Given the description of an element on the screen output the (x, y) to click on. 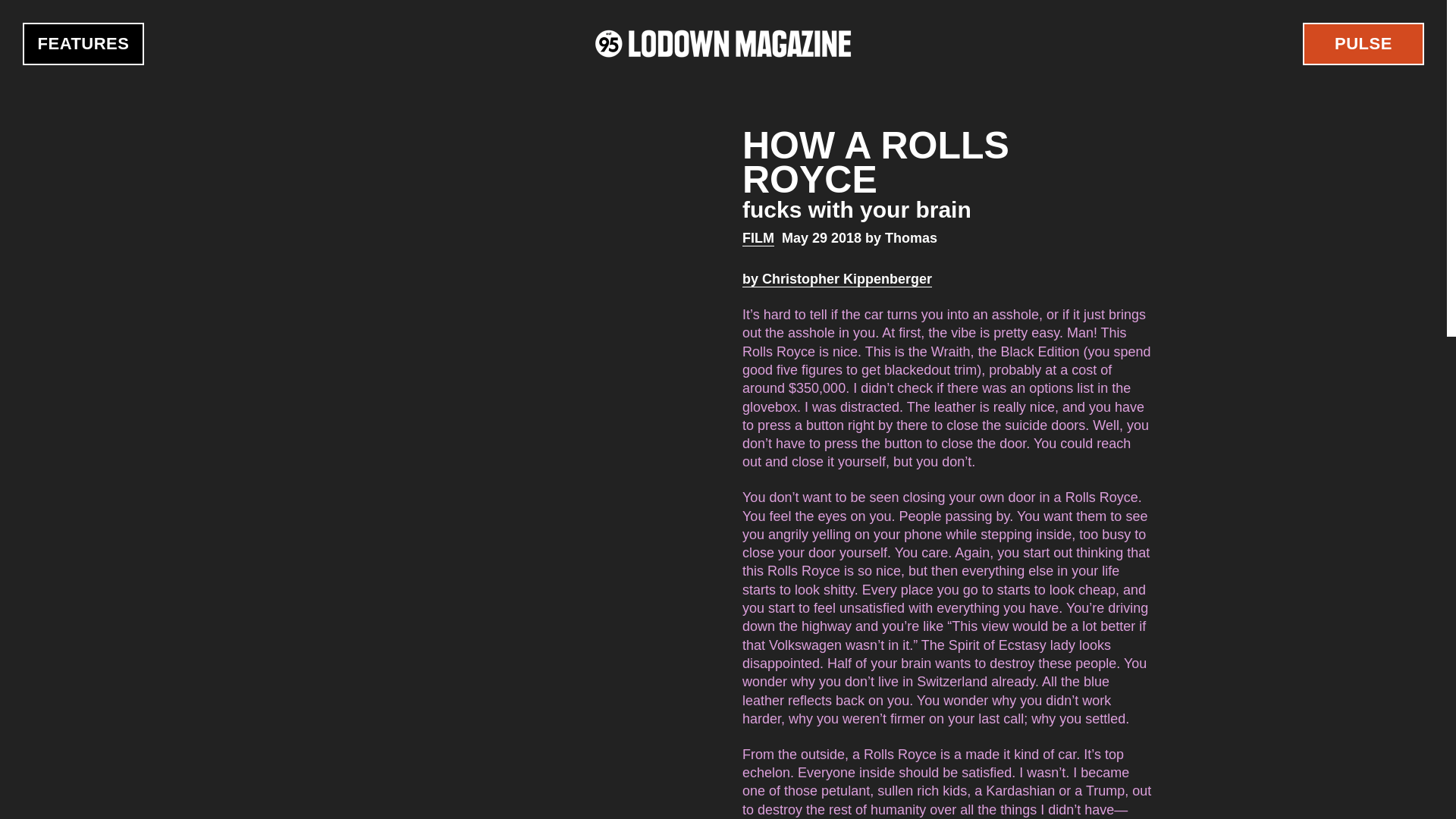
by Christopher Kippenberger (836, 279)
FILM (758, 238)
FEATURES (83, 43)
PULSE (1363, 43)
Home (723, 43)
